Given the description of an element on the screen output the (x, y) to click on. 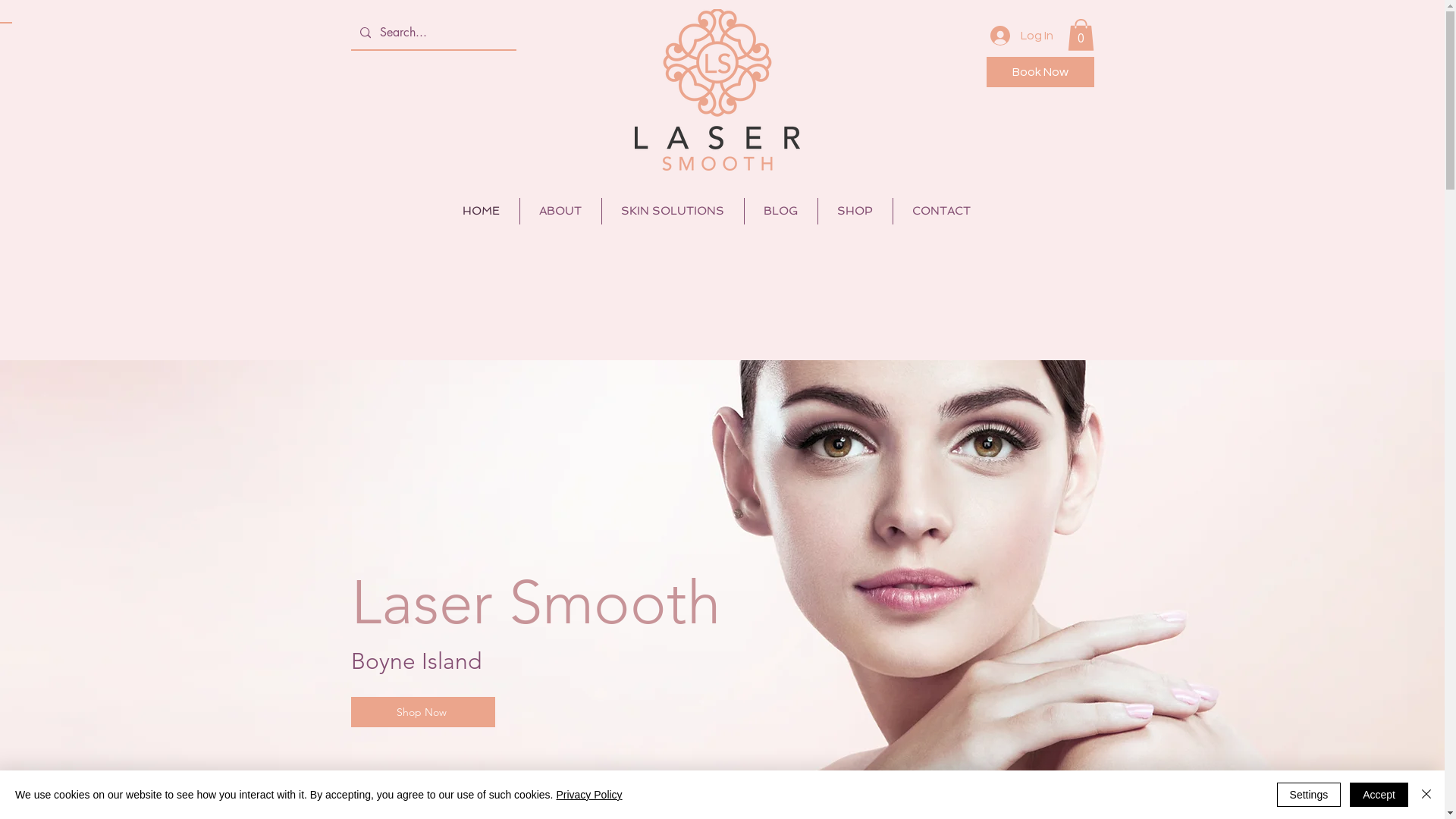
SHOP Element type: text (854, 210)
Book Now Element type: text (1039, 71)
CONTACT Element type: text (941, 210)
ABOUT Element type: text (560, 210)
Log In Element type: text (1021, 35)
Shop Now Element type: text (422, 711)
Accept Element type: text (1378, 794)
BLOG Element type: text (780, 210)
Privacy Policy Element type: text (588, 794)
0 Element type: text (1080, 34)
Settings Element type: text (1309, 794)
HOME Element type: text (480, 210)
